Given the description of an element on the screen output the (x, y) to click on. 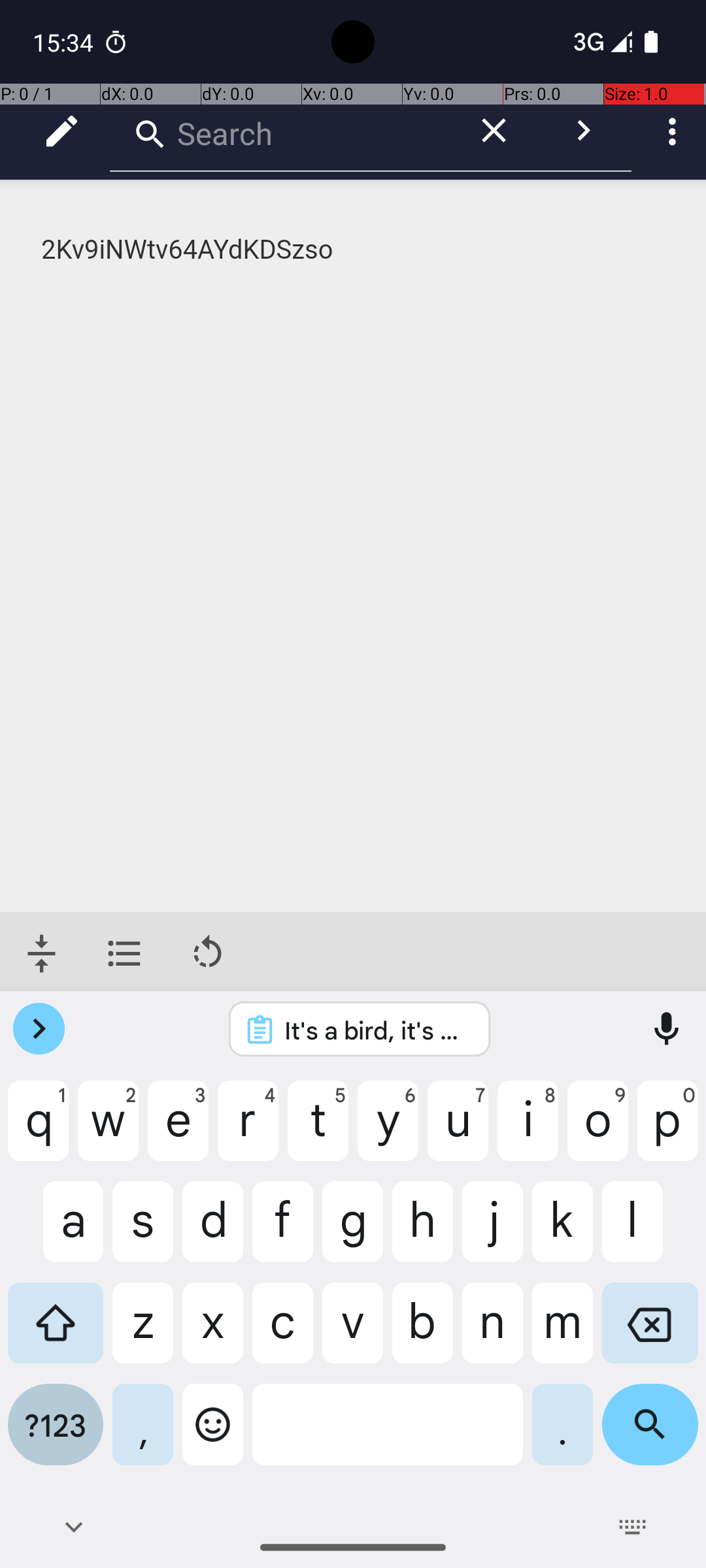
   Search Element type: android.widget.AutoCompleteTextView (280, 130)
2Kv9iNWtv64AYdKDSzso Element type: android.widget.TextView (354, 249)
